Given the description of an element on the screen output the (x, y) to click on. 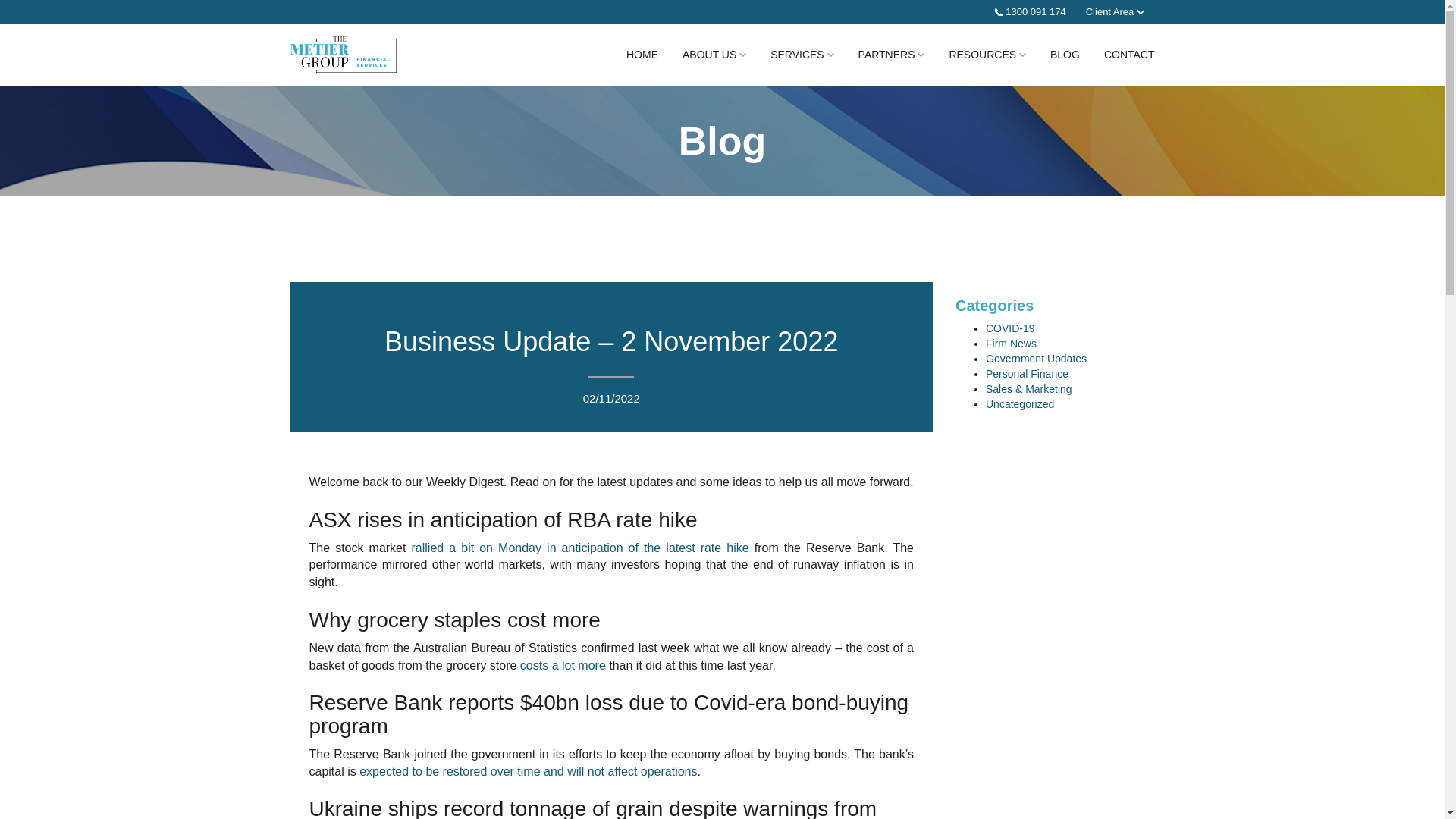
1300 091 174 (1029, 12)
BLOG (1065, 54)
ABOUT US  (713, 54)
About Us (713, 54)
Services (801, 54)
SERVICES  (801, 54)
Client Area (1115, 11)
Home (641, 54)
PARTNERS  (891, 54)
RESOURCES  (987, 54)
costs a lot more (562, 665)
HOME (641, 54)
Partners (891, 54)
